Given the description of an element on the screen output the (x, y) to click on. 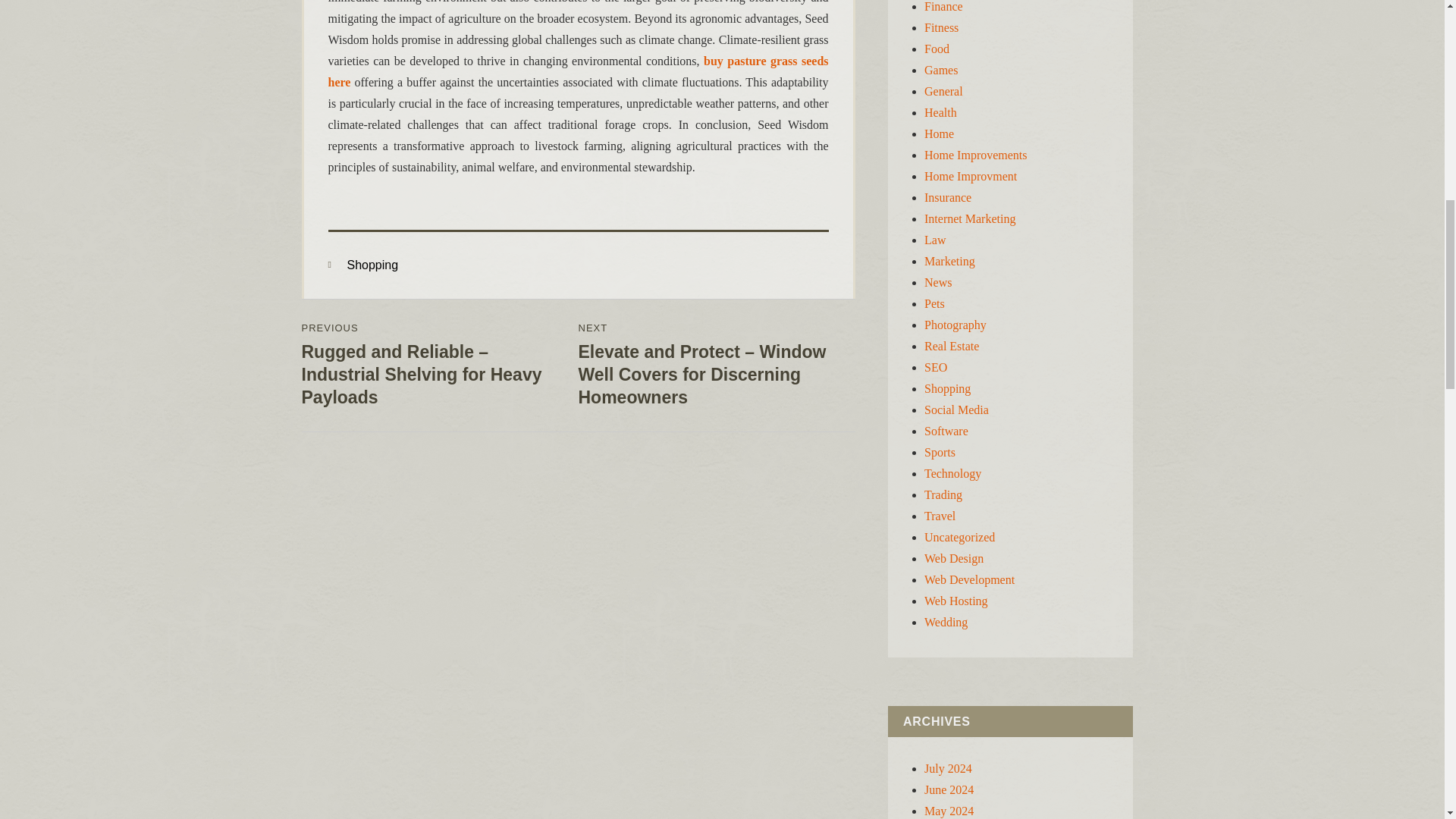
Games (941, 69)
Home (938, 133)
Health (940, 112)
Fitness (941, 27)
Shopping (372, 264)
Food (936, 48)
Insurance (947, 196)
Internet Marketing (969, 218)
Finance (943, 6)
General (943, 91)
buy pasture grass seeds here (577, 71)
Home Improvment (970, 175)
Law (934, 239)
Home Improvements (975, 154)
